Given the description of an element on the screen output the (x, y) to click on. 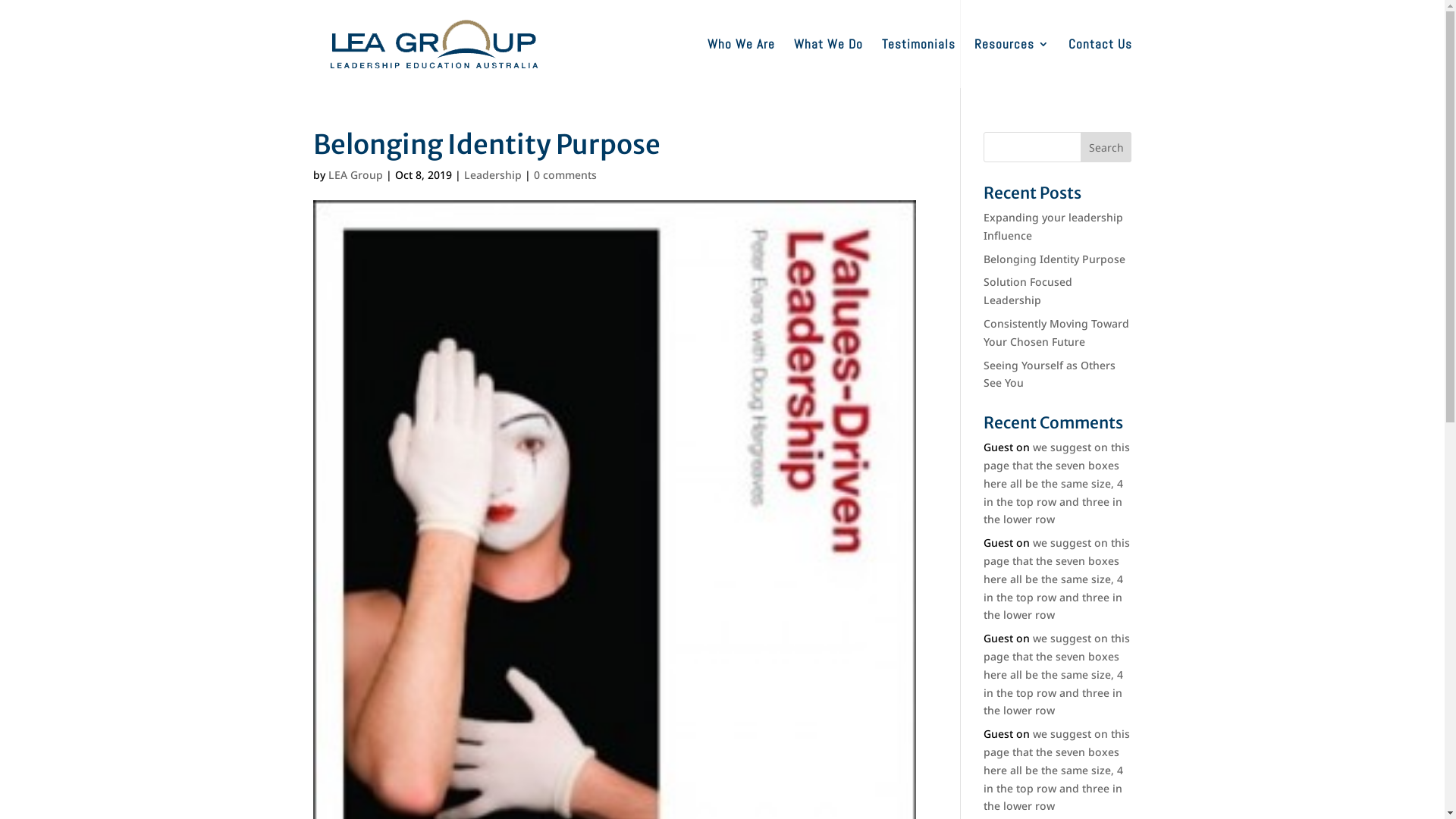
Who We Are Element type: text (740, 62)
Contact Us Element type: text (1099, 62)
Search Element type: text (1106, 146)
Belonging Identity Purpose Element type: text (1054, 258)
Testimonials Element type: text (917, 62)
Solution Focused Leadership Element type: text (1027, 290)
LEA Group Element type: text (354, 174)
0 comments Element type: text (564, 174)
Expanding your leadership Influence Element type: text (1053, 226)
Consistently Moving Toward Your Chosen Future Element type: text (1056, 332)
What We Do Element type: text (827, 62)
Seeing Yourself as Others See You Element type: text (1049, 373)
Resources Element type: text (1010, 62)
Leadership Element type: text (492, 174)
